Given the description of an element on the screen output the (x, y) to click on. 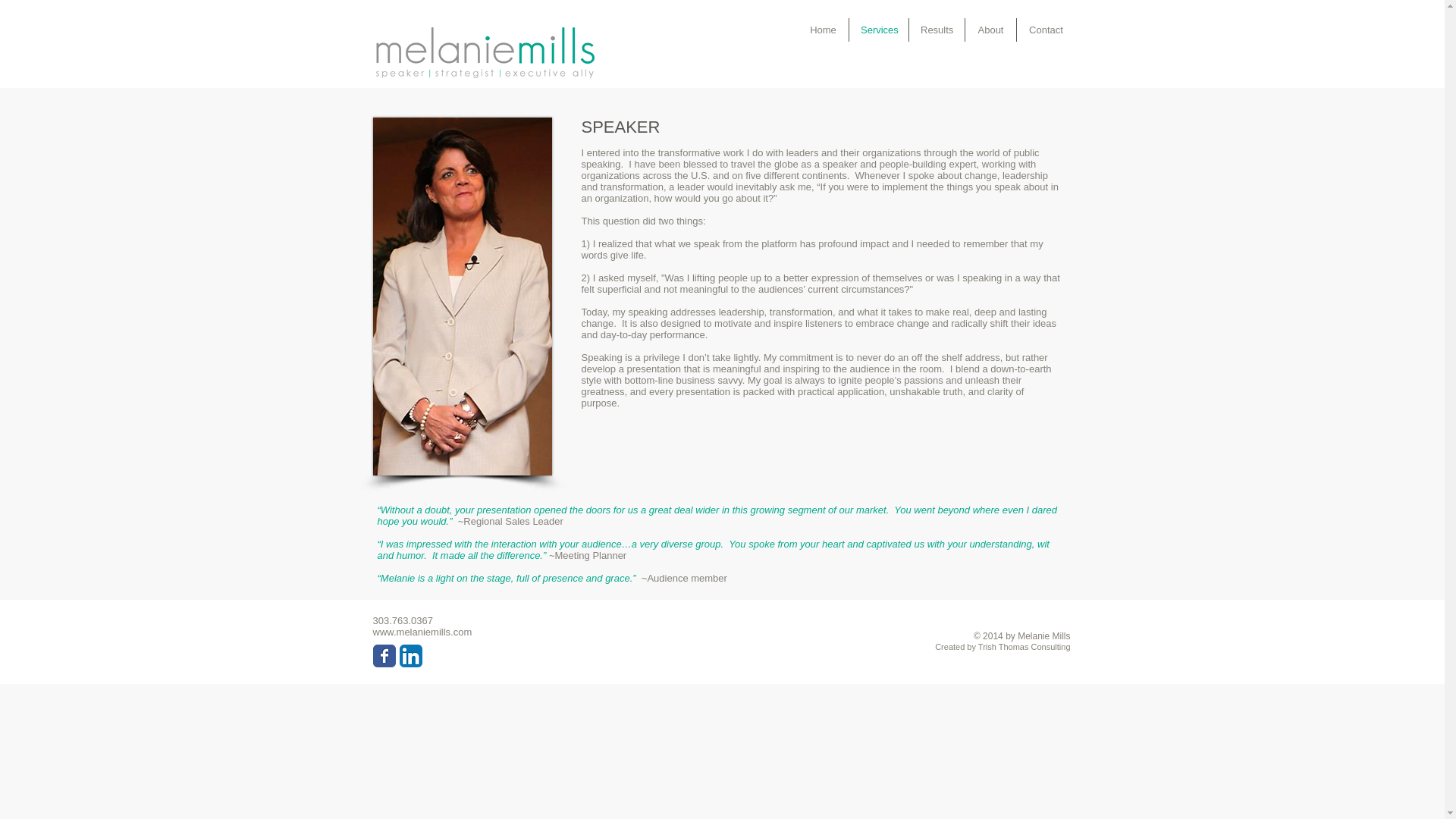
Contact (1045, 29)
Home (822, 29)
Results (935, 29)
mmlogo4.png (485, 52)
Services (878, 29)
www.melaniemills.com (421, 632)
About (990, 29)
